Given the description of an element on the screen output the (x, y) to click on. 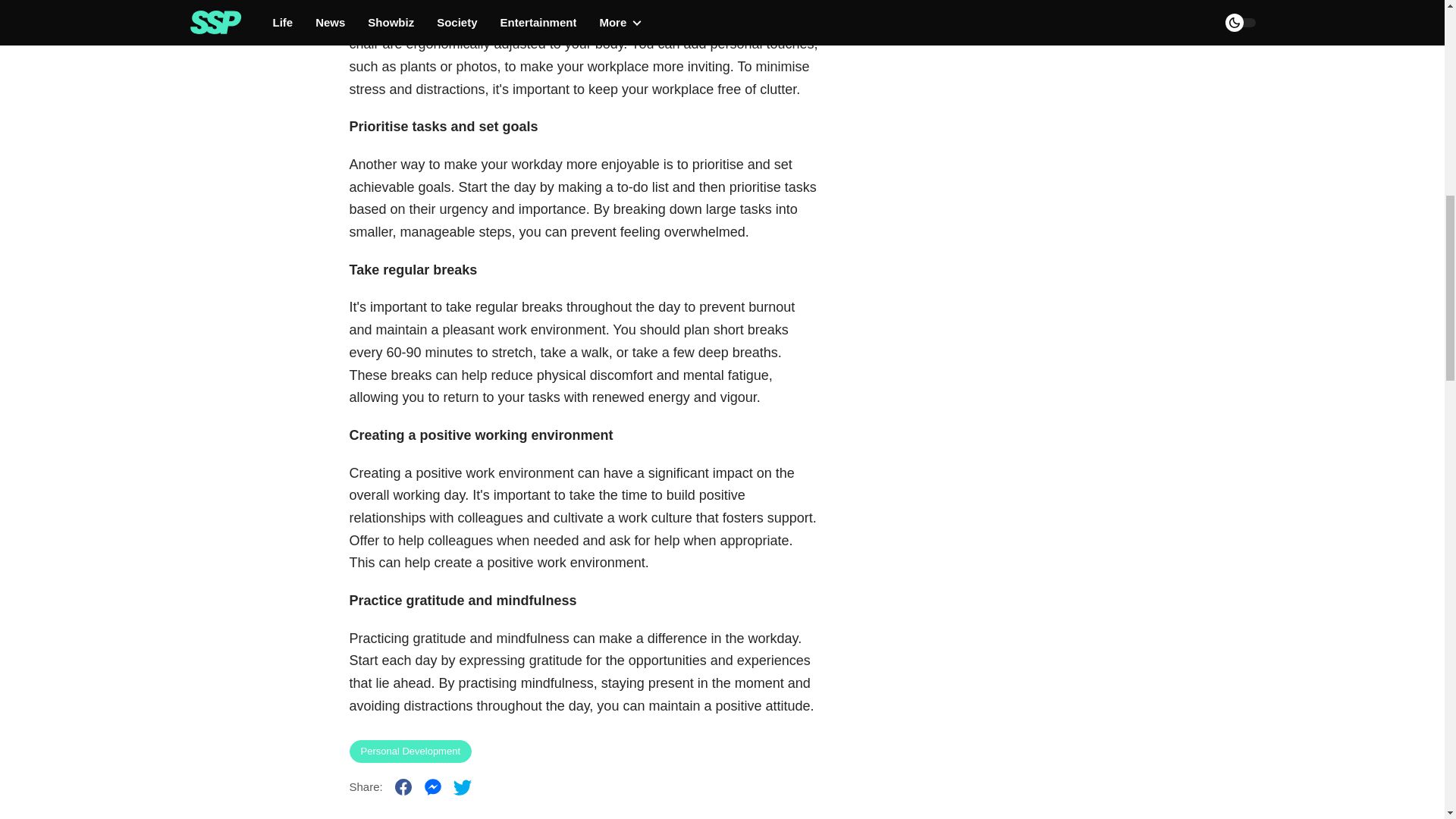
Personal Development (410, 751)
